Given the description of an element on the screen output the (x, y) to click on. 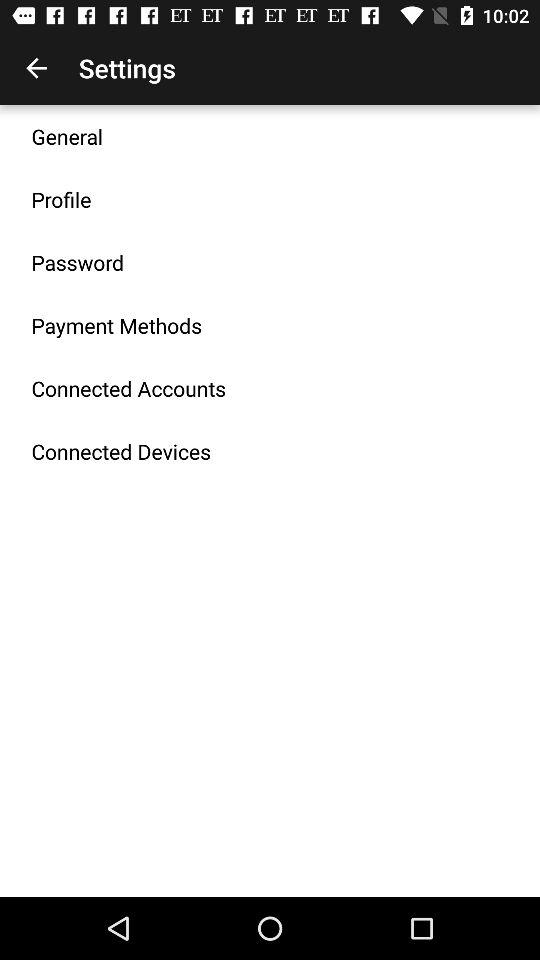
choose the payment methods (116, 325)
